Given the description of an element on the screen output the (x, y) to click on. 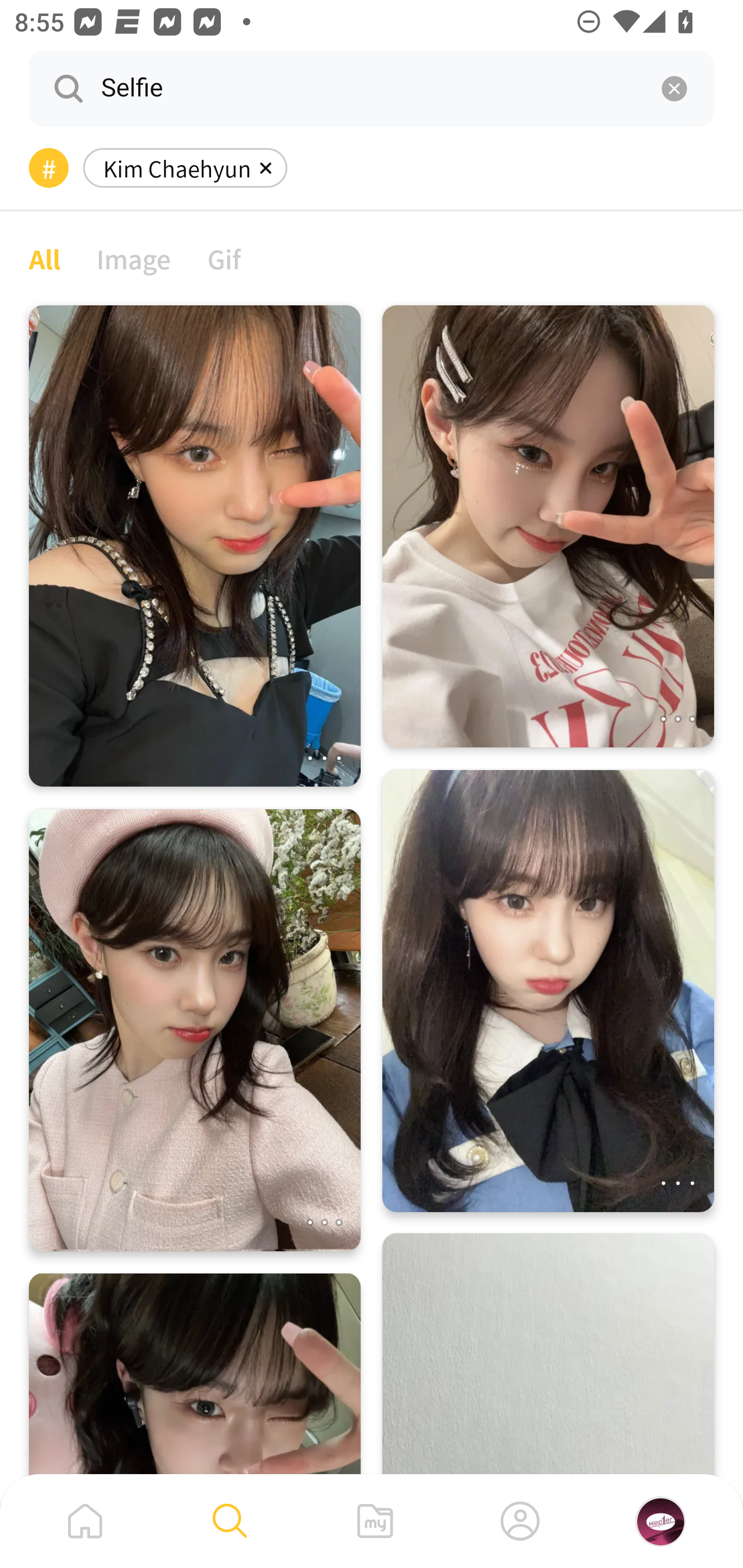
All (44, 257)
Image (133, 257)
Gif (223, 257)
